Given the description of an element on the screen output the (x, y) to click on. 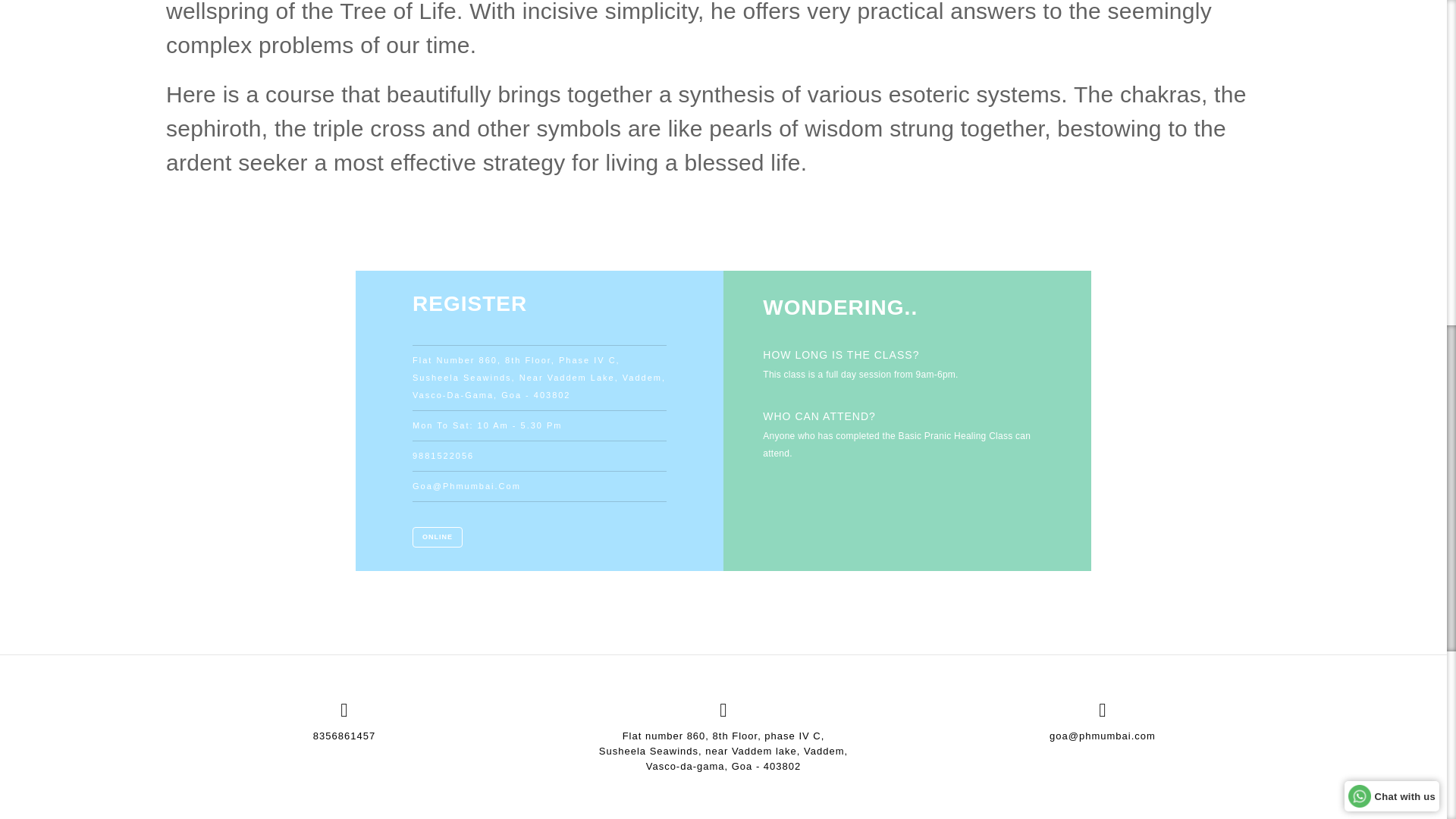
ONLINE (437, 537)
8356861457 (344, 736)
